Given the description of an element on the screen output the (x, y) to click on. 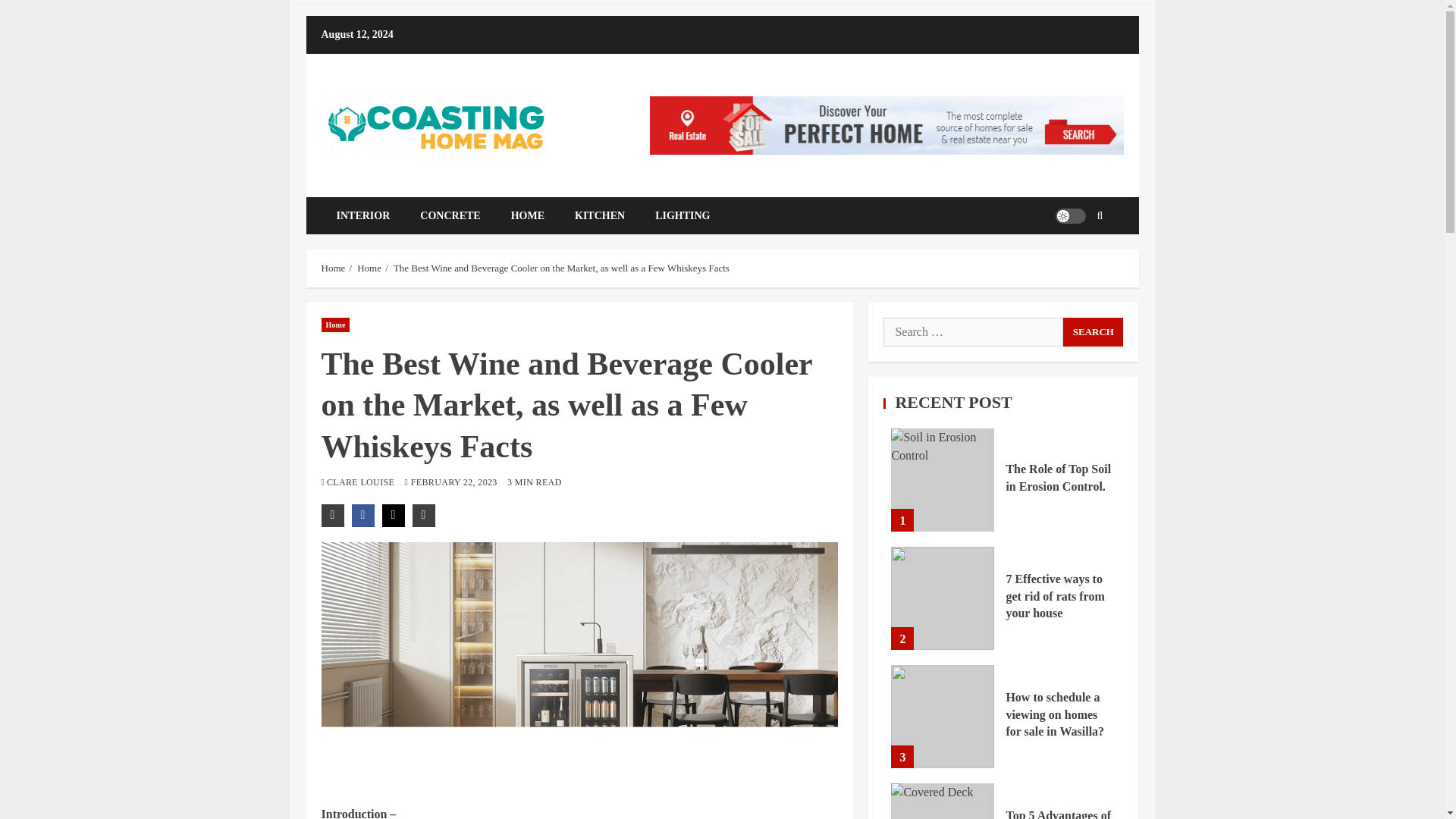
Search (1076, 261)
Home (335, 324)
Search (1092, 331)
How to schedule a viewing on homes for sale in Wasilla? (1054, 714)
Home (368, 267)
The Role of Top Soil in Erosion Control. (1058, 477)
CONCRETE (449, 215)
KITCHEN (599, 215)
CLARE LOUISE (361, 481)
